Given the description of an element on the screen output the (x, y) to click on. 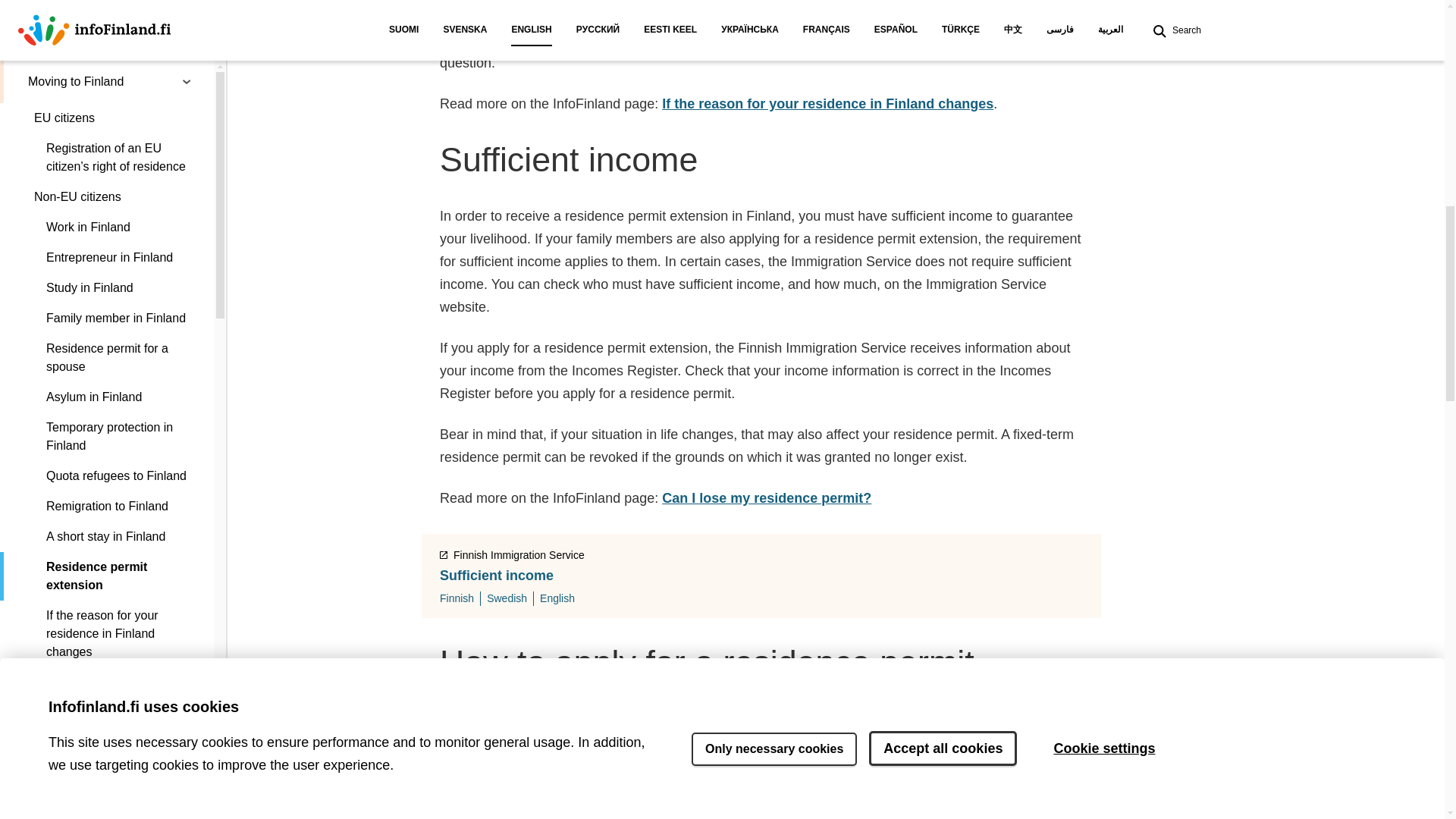
mainMenu.open (186, 257)
Can I lose my residence permit? (107, 2)
mainMenu.open (186, 215)
